Given the description of an element on the screen output the (x, y) to click on. 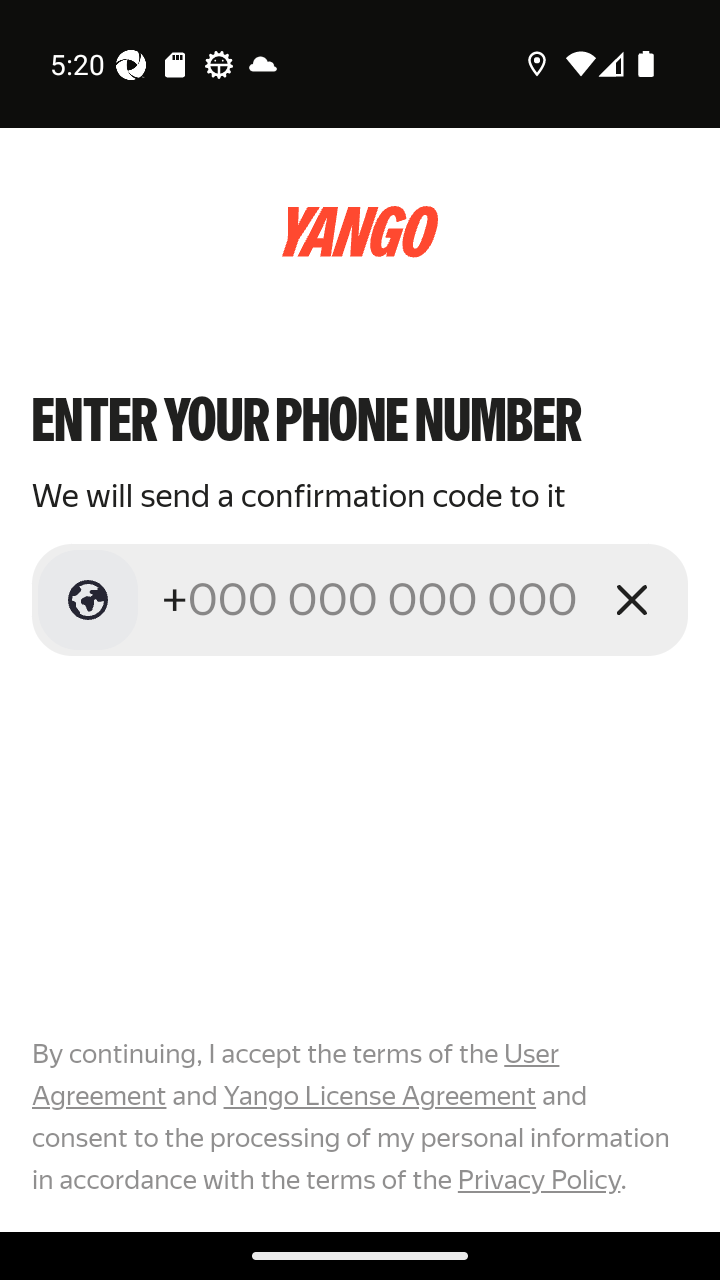
logo (359, 231)
  (88, 600)
+ (372, 599)
User Agreement (295, 1075)
Yango License Agreement (379, 1096)
Privacy Policy (538, 1179)
